Given the description of an element on the screen output the (x, y) to click on. 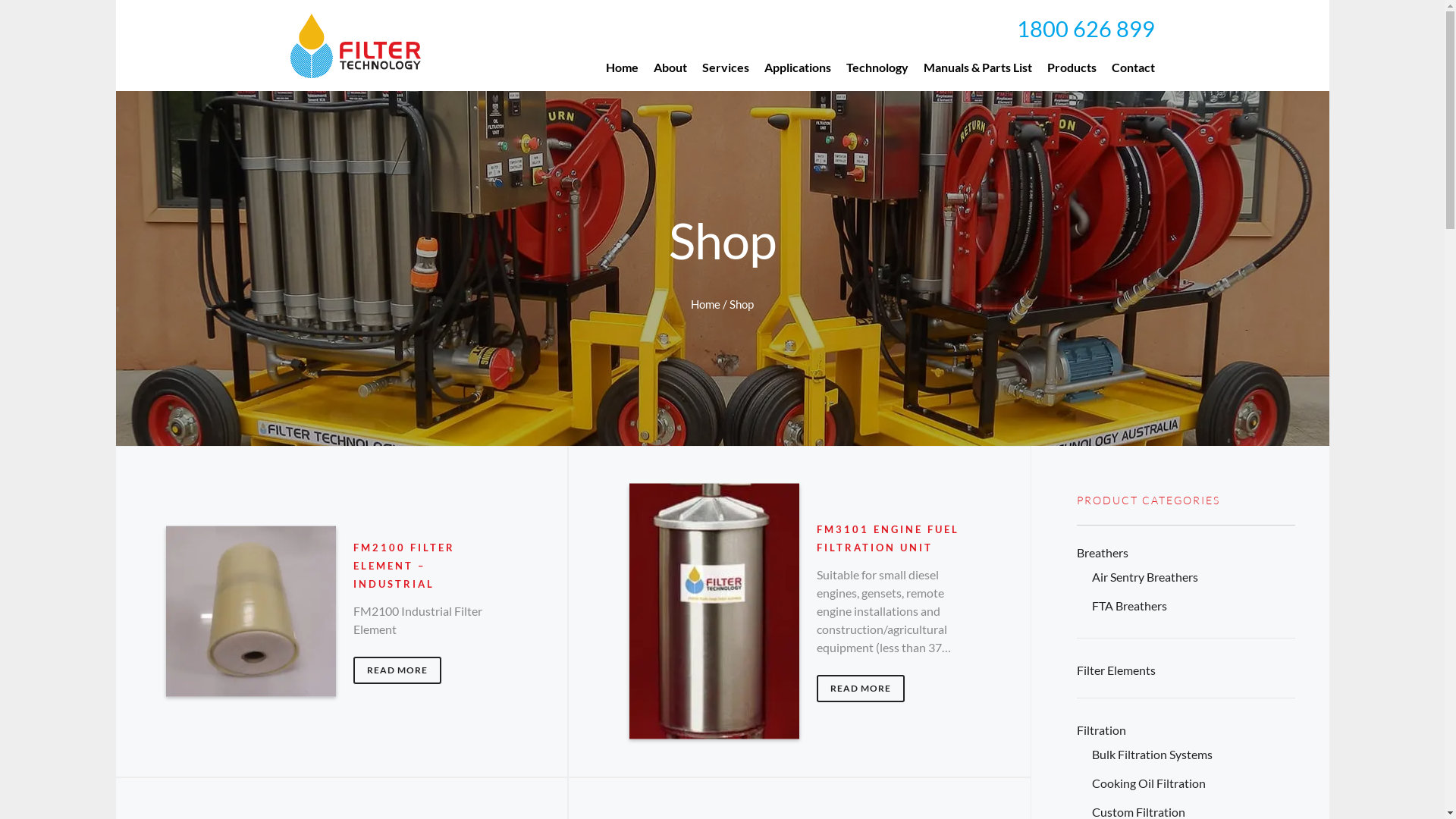
READ MORE Element type: text (860, 688)
Filter Elements Element type: text (1115, 669)
Services Element type: text (725, 67)
Cooking Oil Filtration Element type: text (1148, 782)
About Element type: text (670, 67)
Applications Element type: text (797, 67)
Home Element type: text (621, 67)
Breathers Element type: text (1102, 552)
FTA Breathers Element type: text (1129, 605)
Products Element type: text (1070, 67)
Filtration Element type: text (1101, 729)
Home Element type: text (705, 303)
Contact Element type: text (1133, 67)
Manuals & Parts List Element type: text (977, 67)
1800 626 899 Element type: text (1085, 29)
Air Sentry Breathers Element type: text (1145, 576)
Bulk Filtration Systems Element type: text (1152, 753)
READ MORE Element type: text (397, 670)
Technology Element type: text (877, 67)
